Given the description of an element on the screen output the (x, y) to click on. 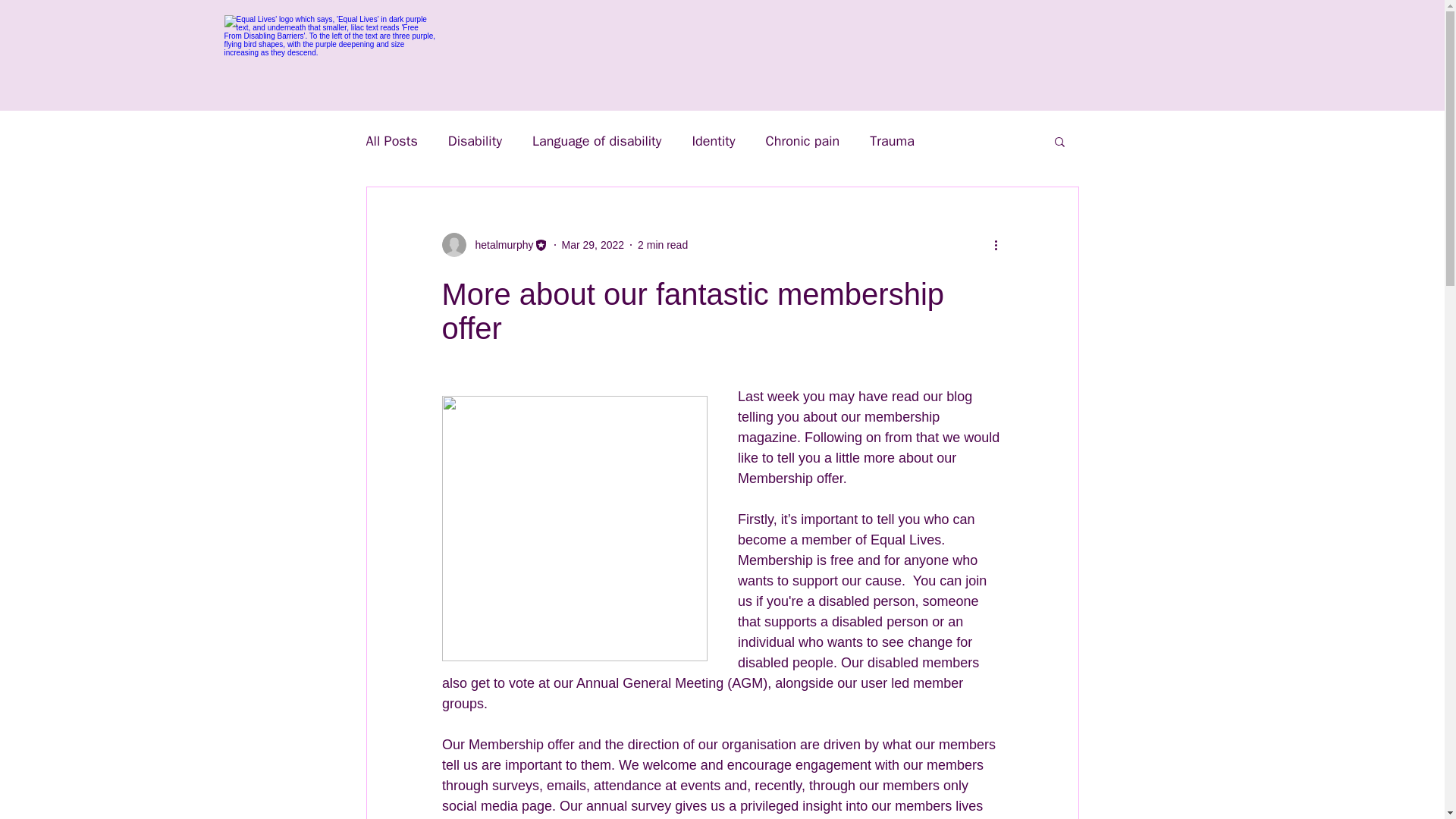
Disability (475, 140)
Language of disability (596, 140)
2 min read (662, 244)
Chronic pain (802, 140)
Mar 29, 2022 (593, 244)
Identity (713, 140)
Trauma (891, 140)
All Posts (390, 140)
hetalmurphy (498, 244)
